Given the description of an element on the screen output the (x, y) to click on. 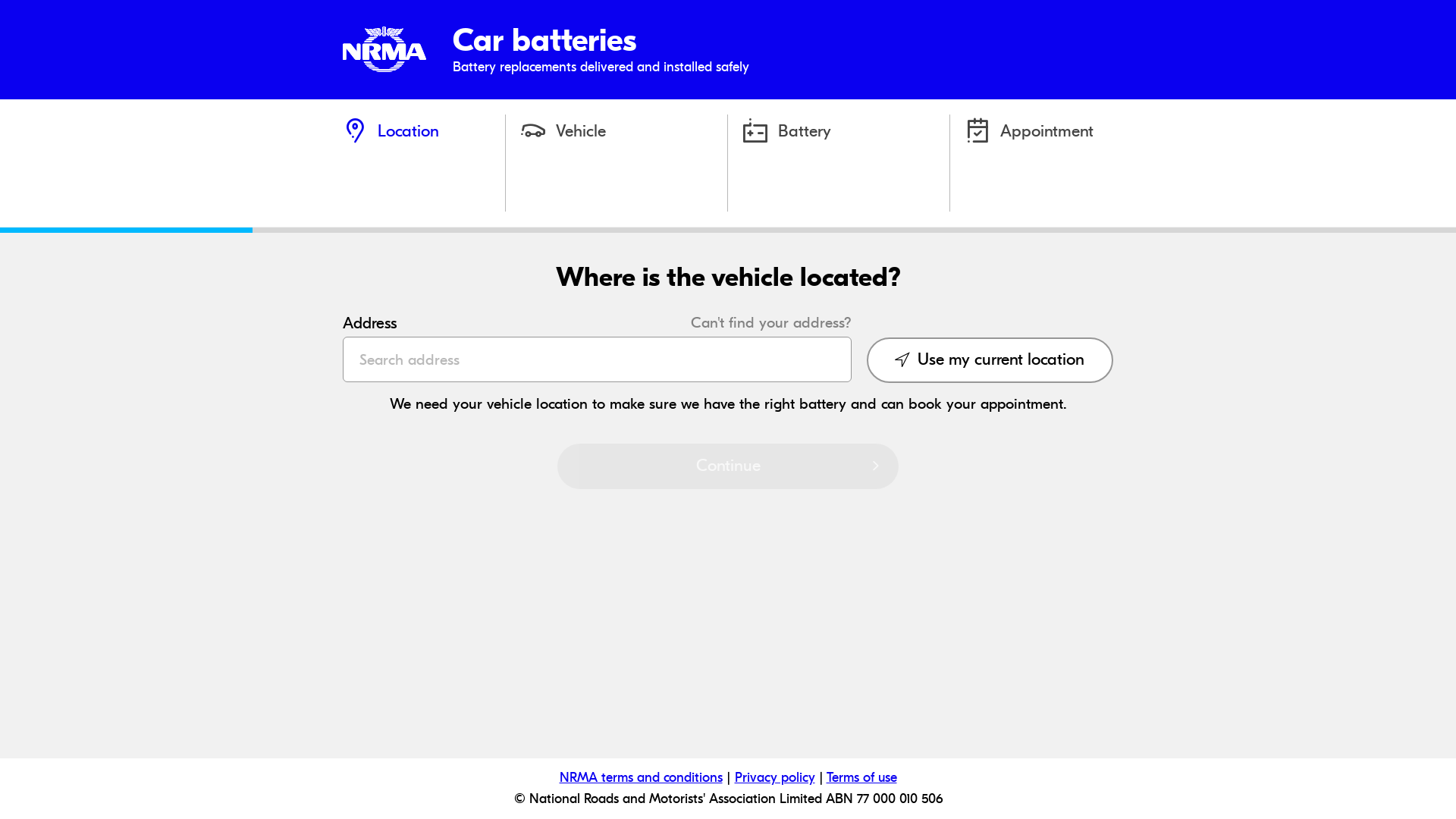
Continue Element type: text (727, 466)
NRMA terms and conditions Element type: text (640, 777)
Privacy policy Element type: text (774, 777)
Terms of use Element type: text (861, 777)
Use my current location Element type: text (989, 359)
NRMA car batteries Created with Sketch. Element type: text (384, 68)
